Given the description of an element on the screen output the (x, y) to click on. 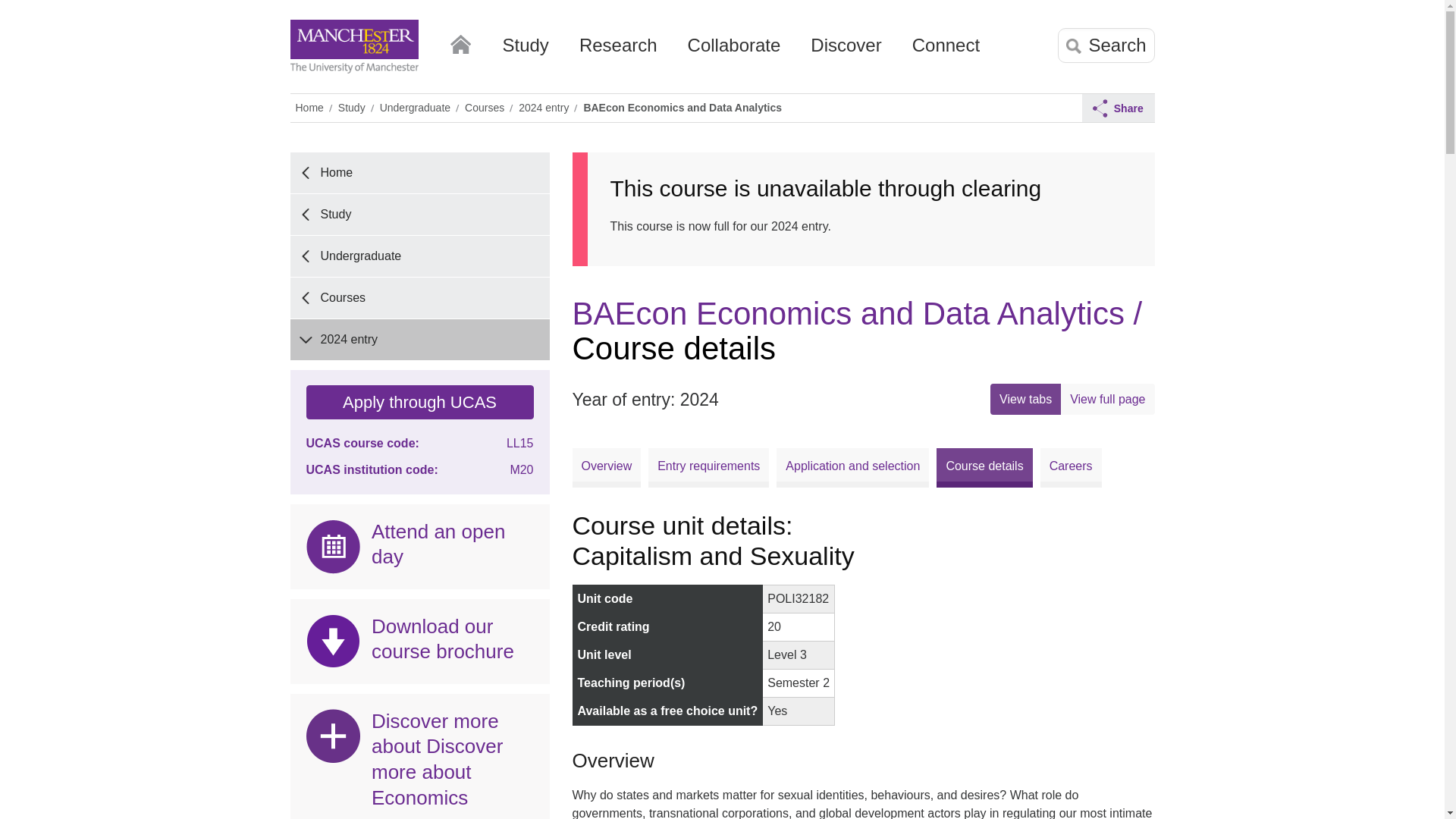
Research at the University (618, 50)
Study (524, 50)
Home (459, 41)
